Given the description of an element on the screen output the (x, y) to click on. 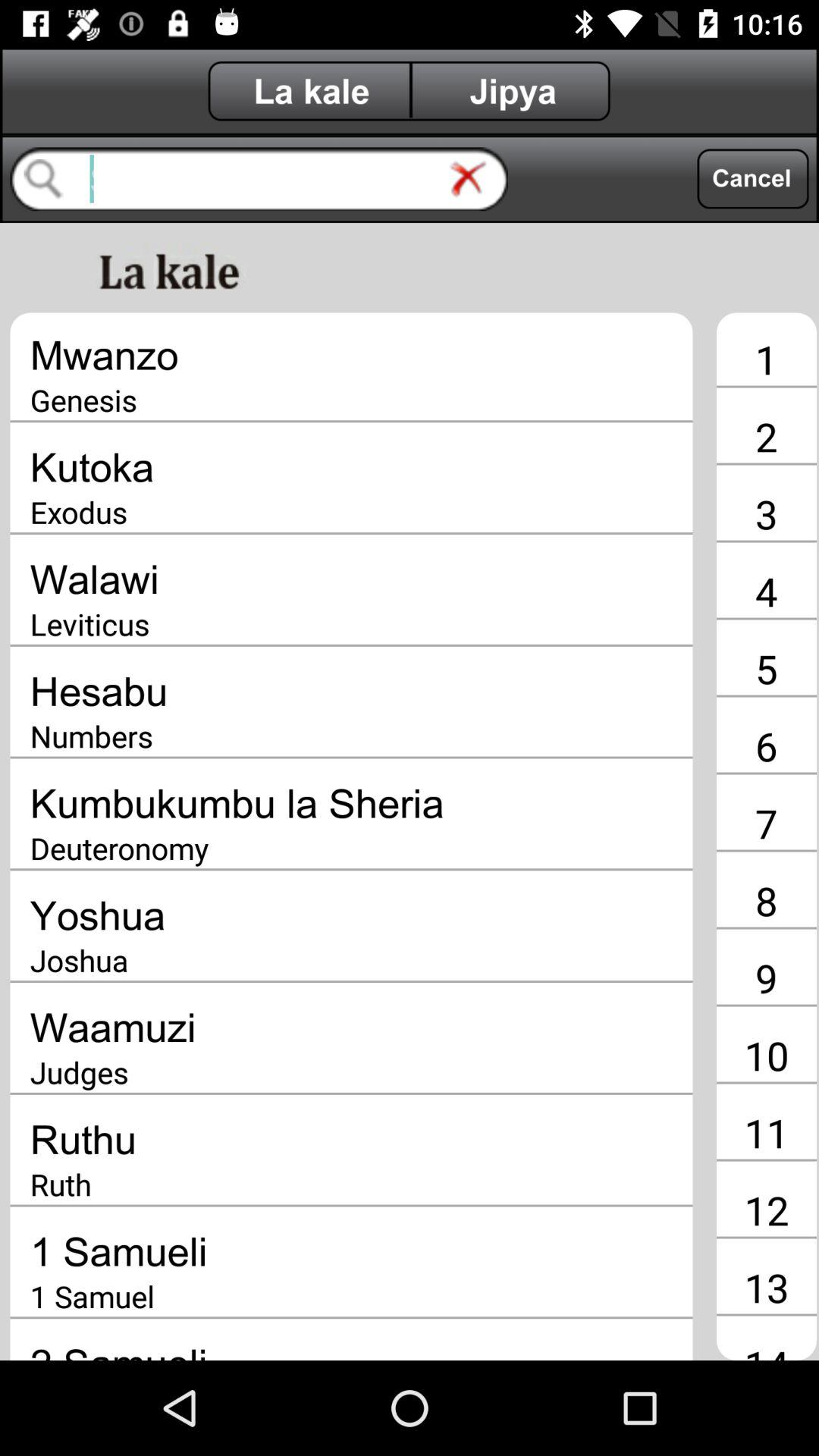
tap the 10 icon (766, 1054)
